Given the description of an element on the screen output the (x, y) to click on. 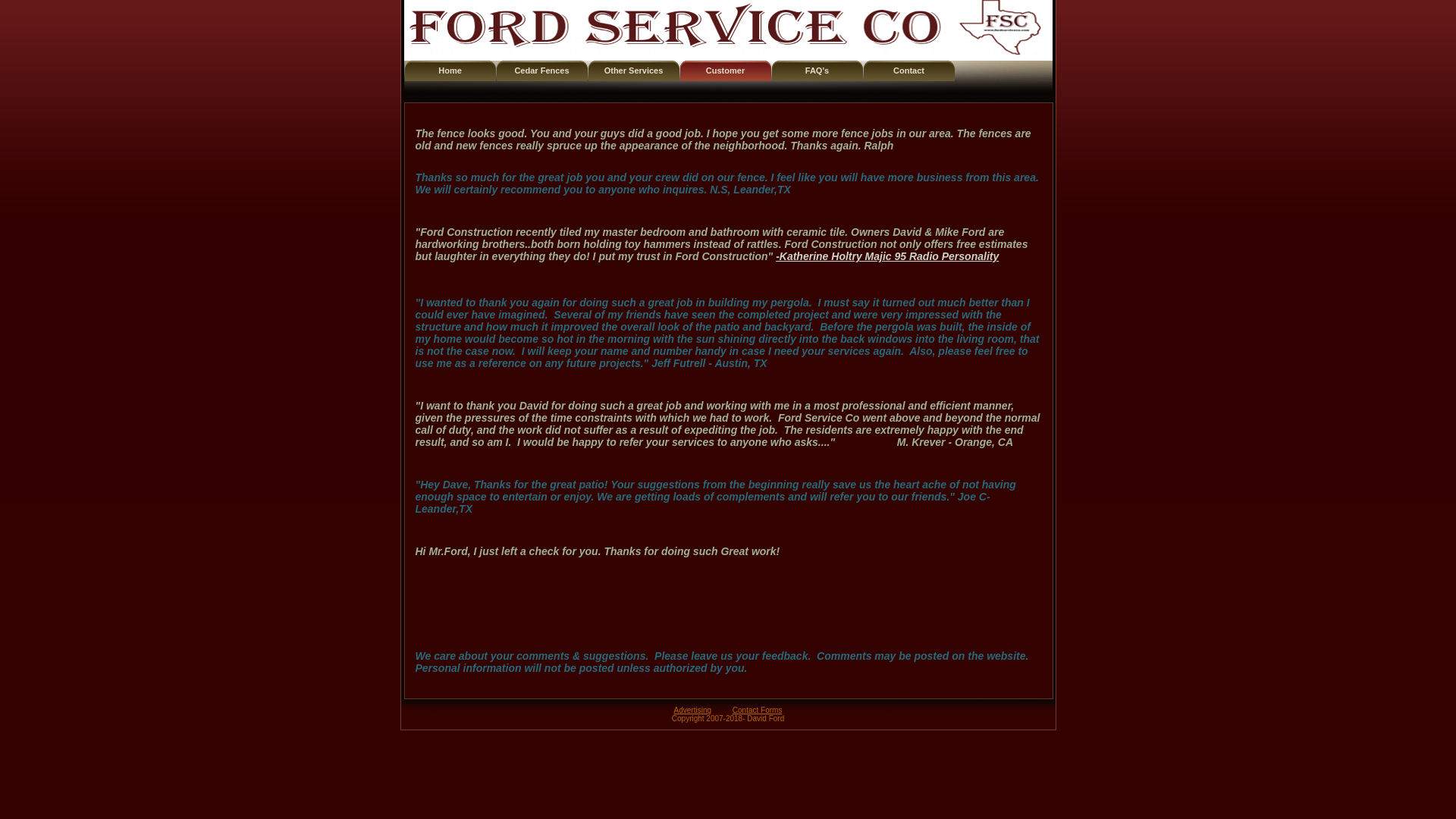
Cedar Fences (541, 70)
FAQ's (817, 70)
Home (450, 70)
Customer Comments (724, 70)
Advertising (692, 709)
Contact Forms (757, 709)
Contact (908, 70)
-Katherine Holtry Majic 95 Radio Personality (887, 256)
Other Services (633, 70)
